Given the description of an element on the screen output the (x, y) to click on. 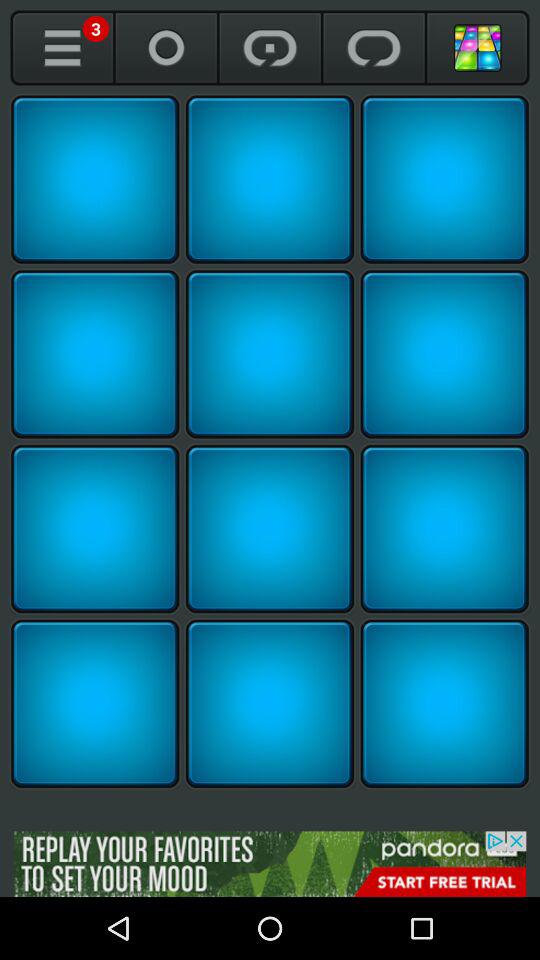
menu (62, 47)
